Given the description of an element on the screen output the (x, y) to click on. 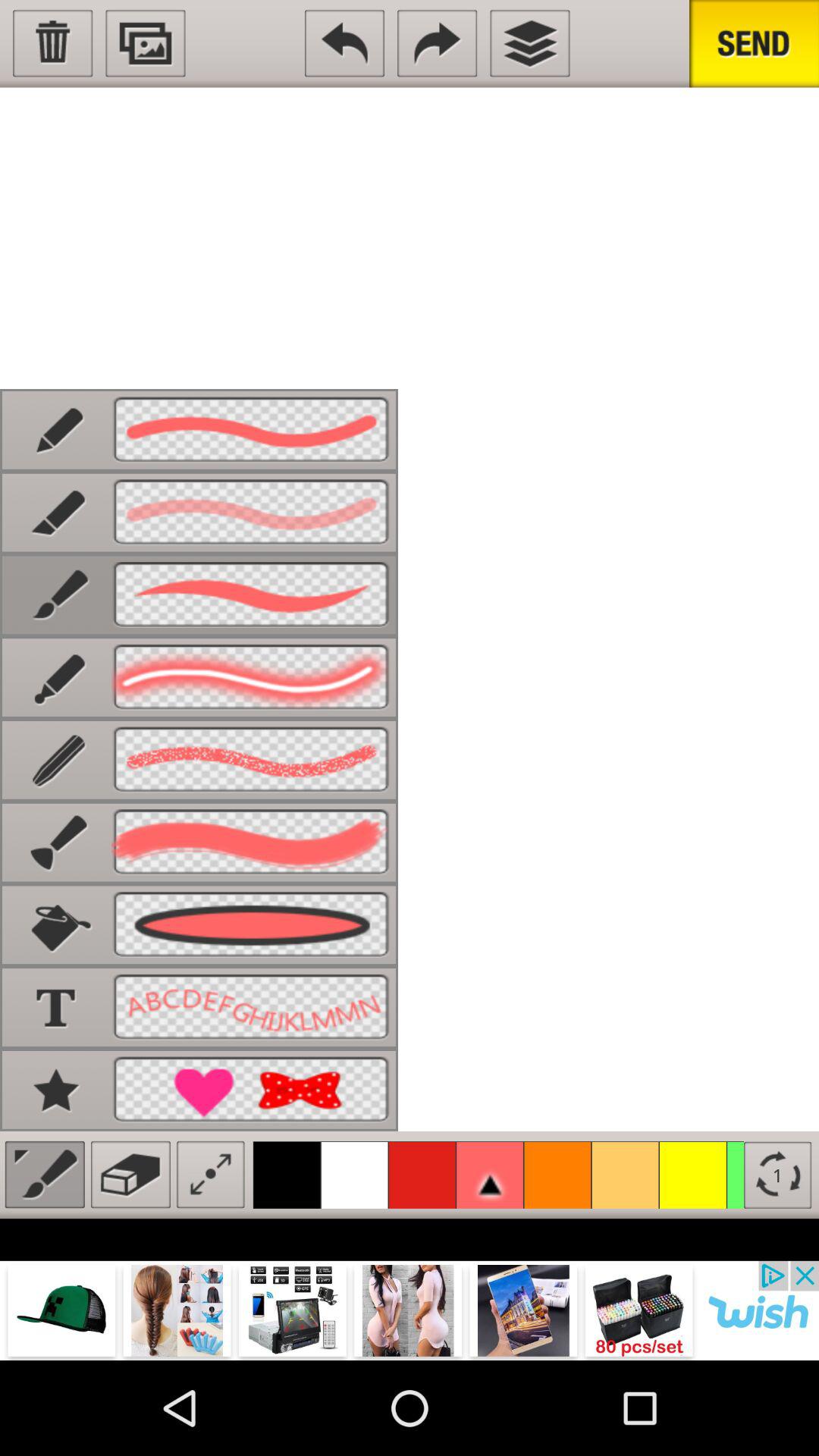
go back (344, 43)
